Given the description of an element on the screen output the (x, y) to click on. 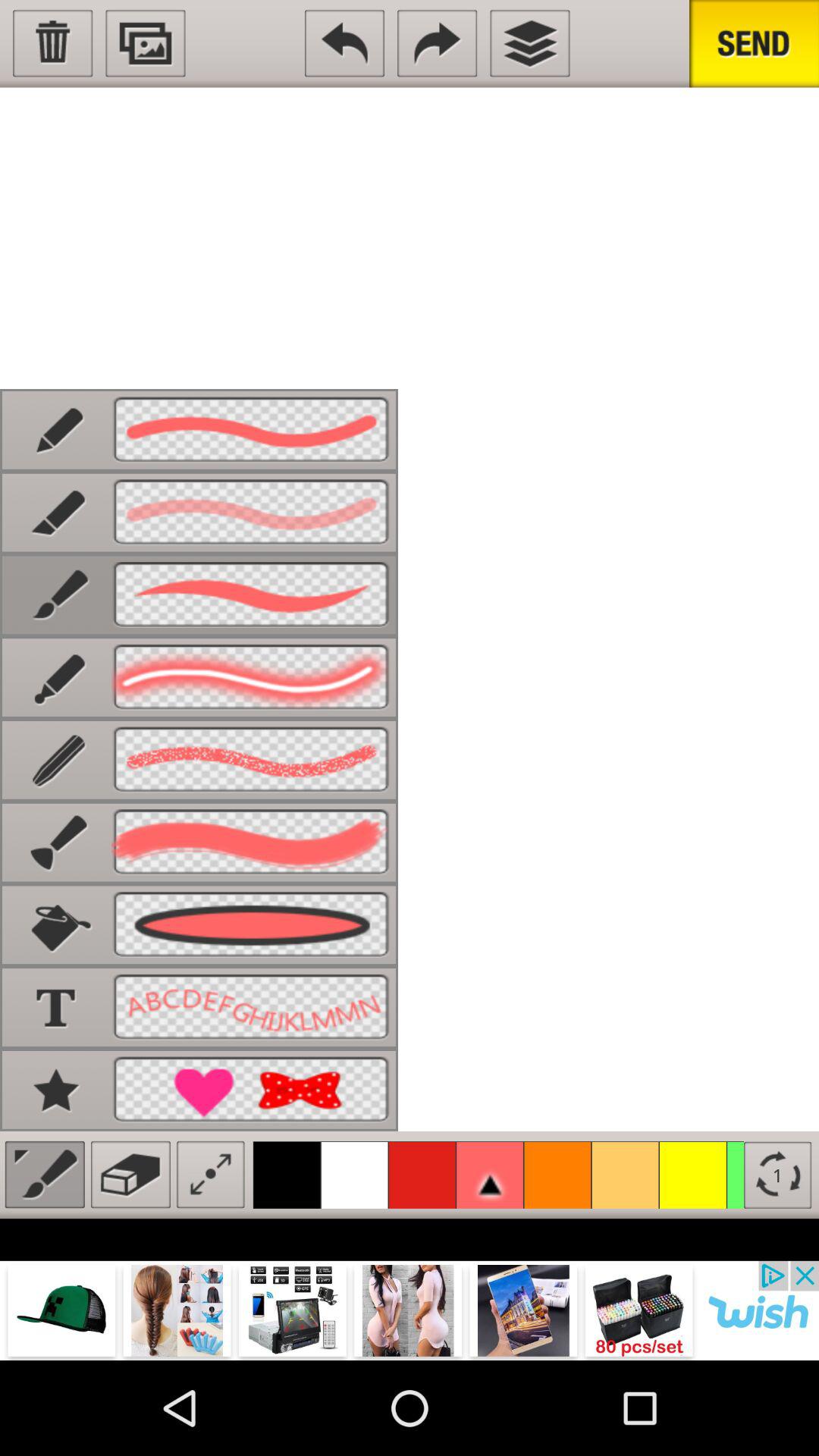
go back (344, 43)
